Given the description of an element on the screen output the (x, y) to click on. 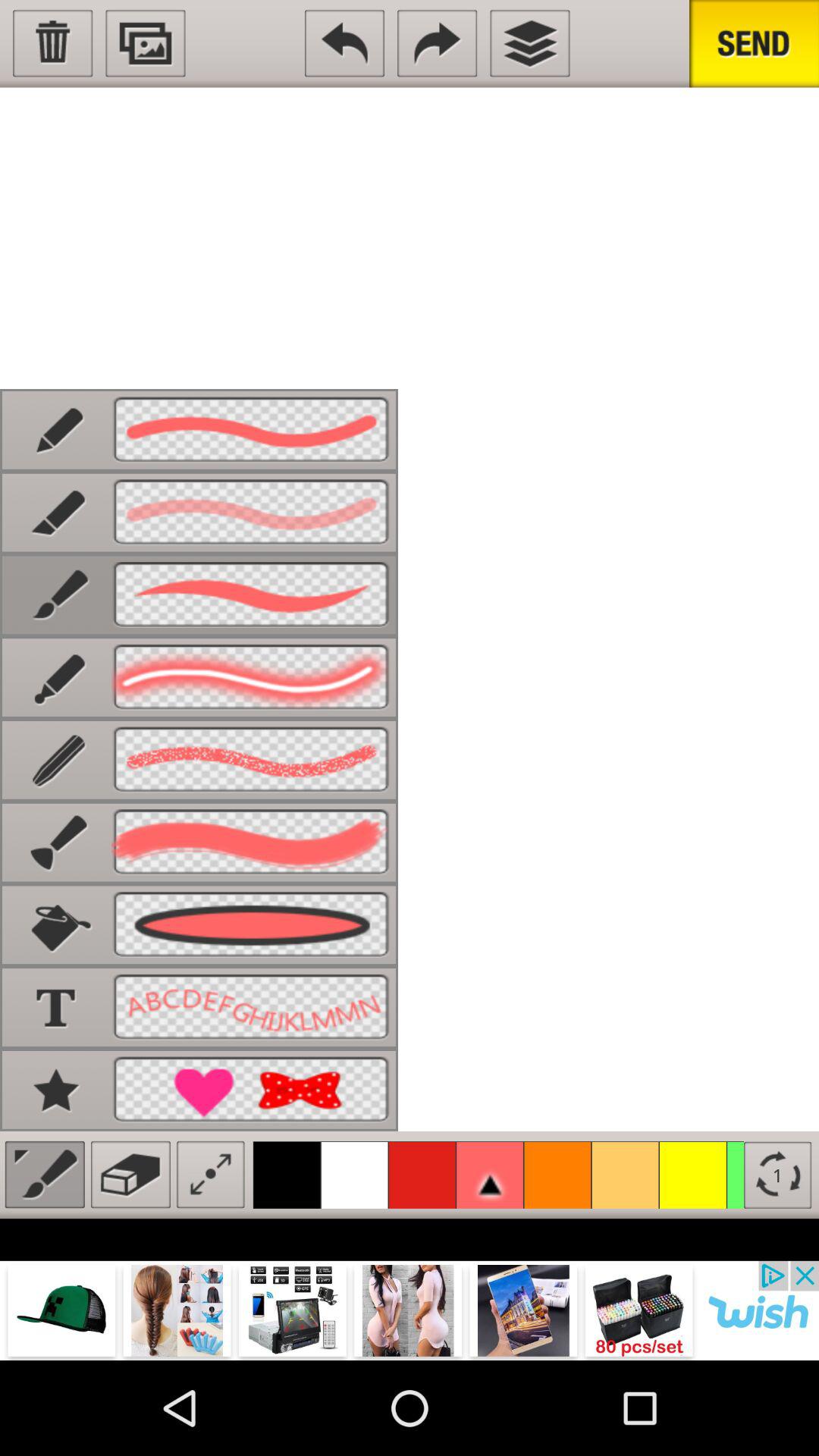
go back (344, 43)
